Given the description of an element on the screen output the (x, y) to click on. 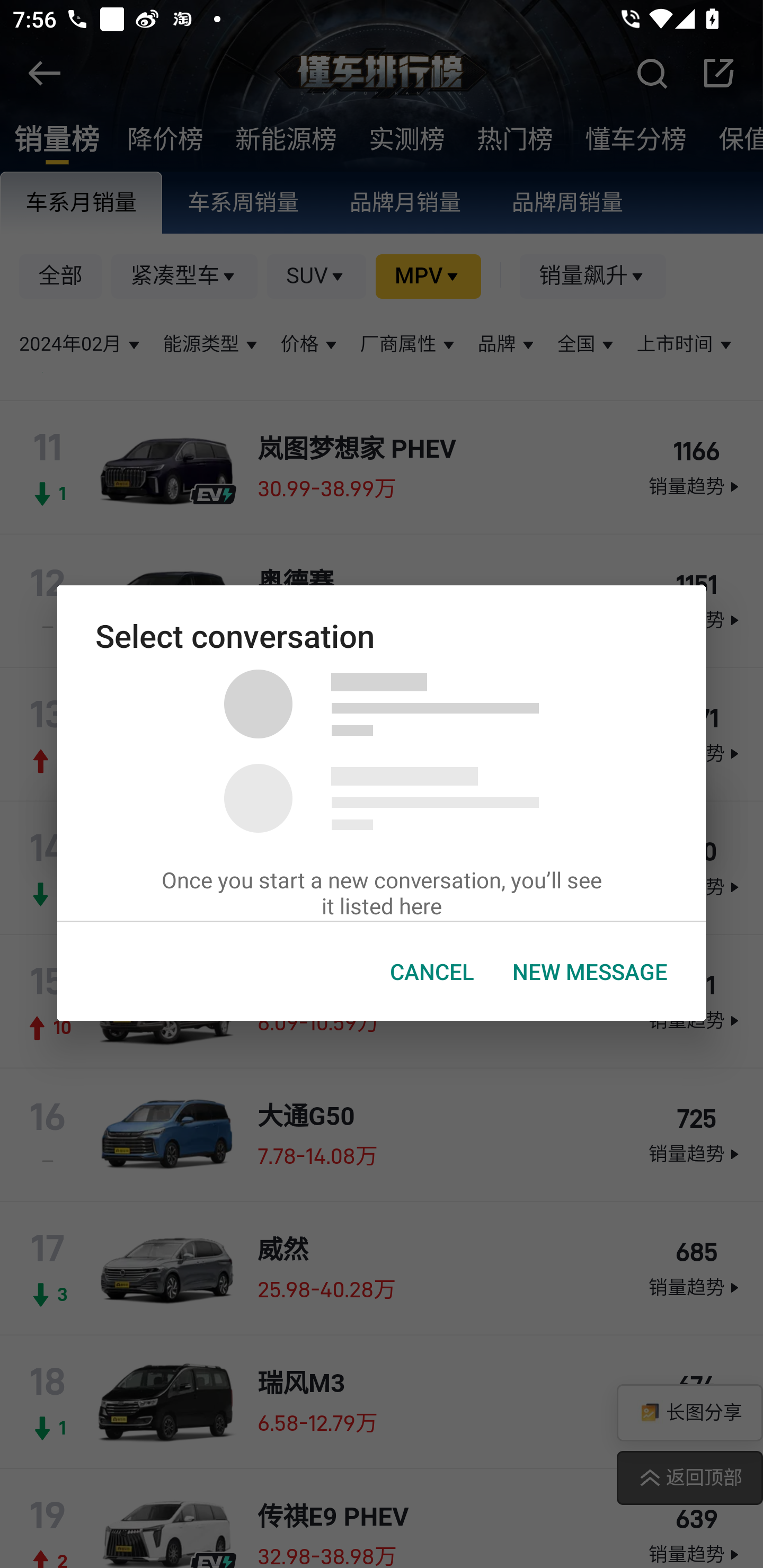
CANCEL (431, 971)
NEW MESSAGE (589, 971)
